Given the description of an element on the screen output the (x, y) to click on. 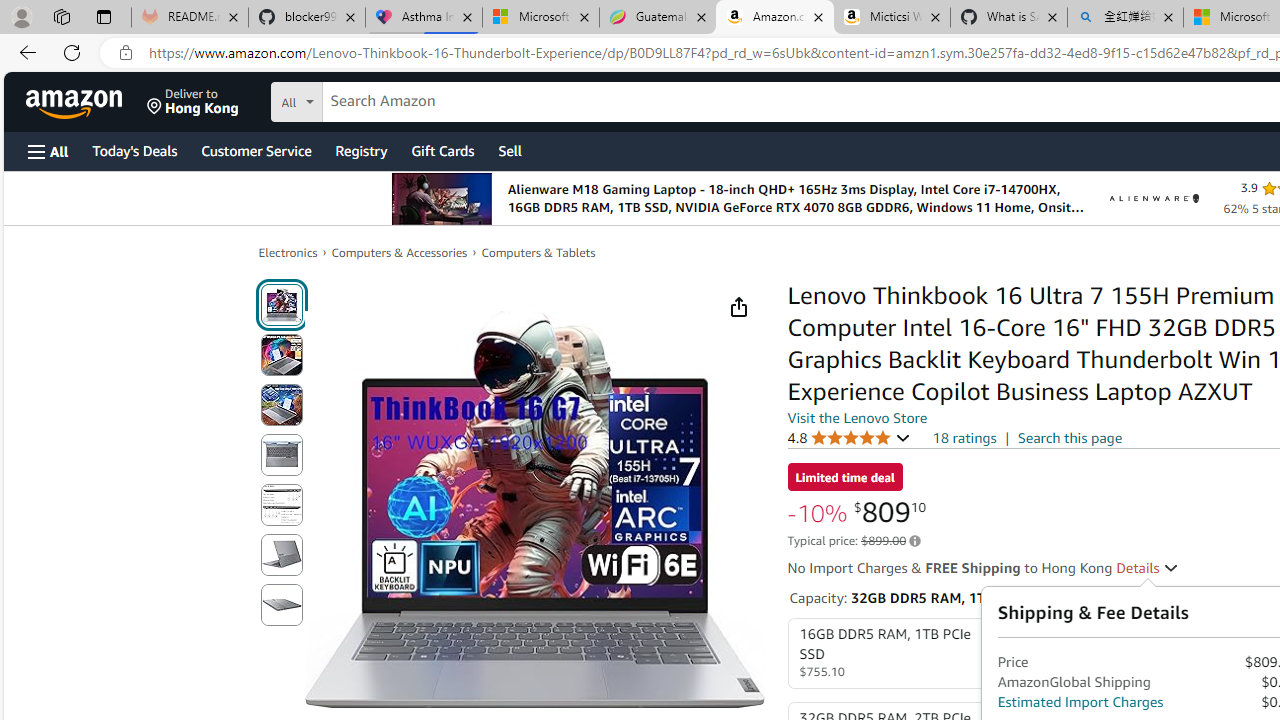
Computers & Accessories (399, 252)
Visit the Lenovo Store (857, 417)
Learn more about Amazon pricing and savings (914, 541)
Search this page (1069, 437)
Share (738, 307)
Amazon (76, 101)
Computers & Accessories (399, 251)
16GB DDR5 RAM, 1TB PCIe SSD $755.10 (888, 653)
